Given the description of an element on the screen output the (x, y) to click on. 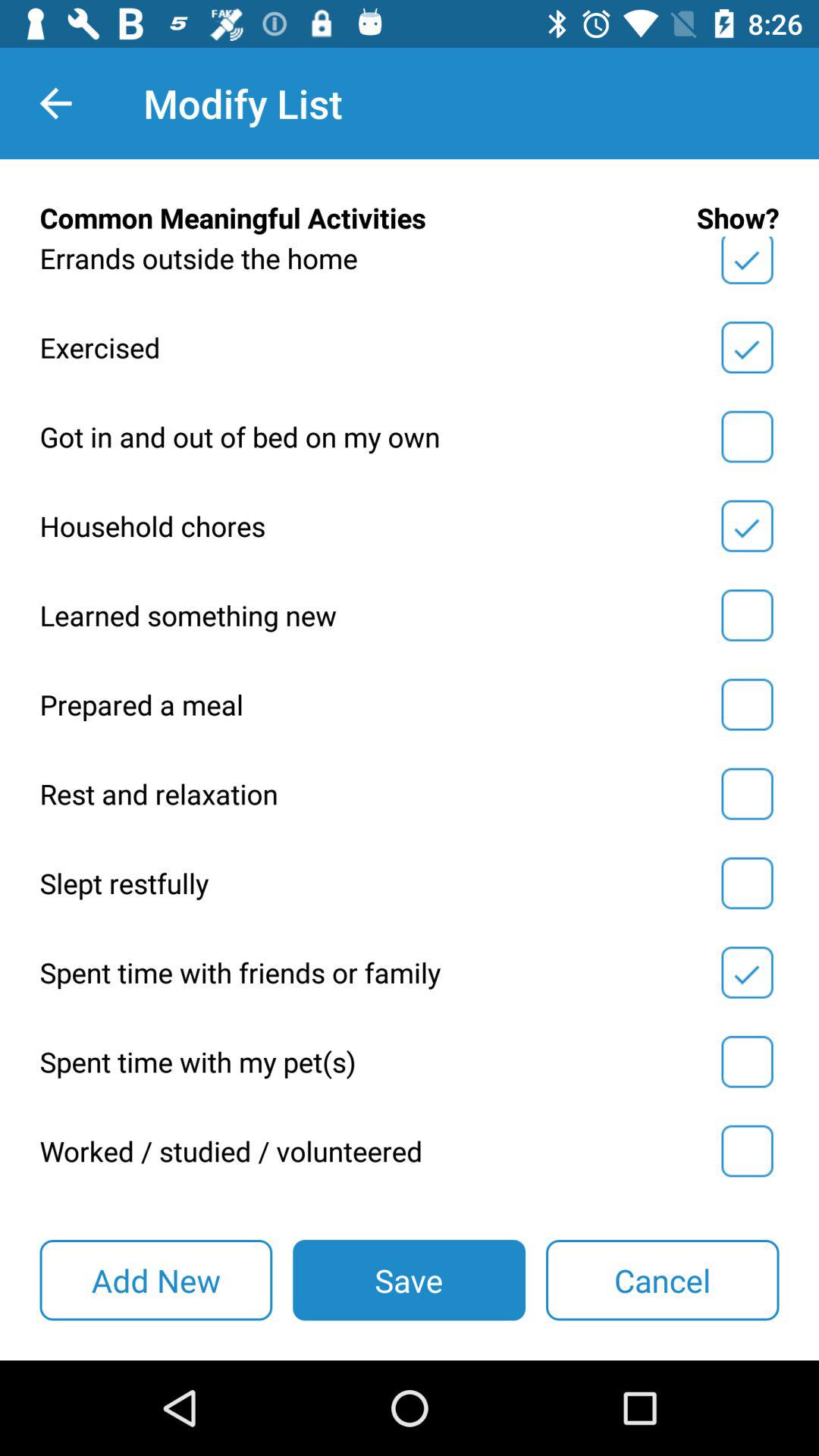
uncheck show box (747, 347)
